Given the description of an element on the screen output the (x, y) to click on. 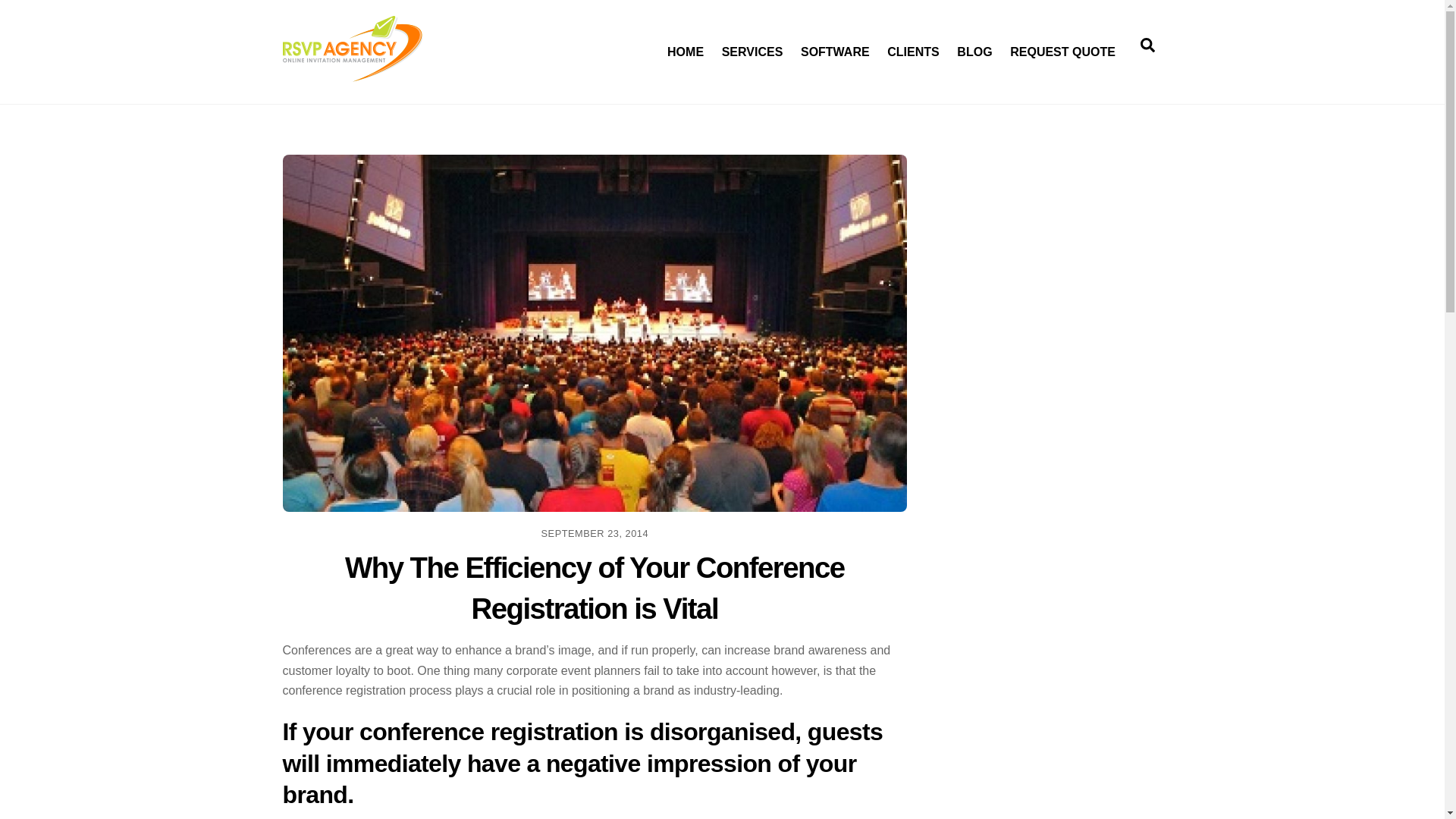
The RSVP Agency (721, 44)
SOFTWARE (352, 74)
REQUEST QUOTE (834, 44)
CLIENTS (1062, 44)
SERVICES (913, 44)
Why The Efficiency of Your Conference Registration is Vital (752, 44)
Why the efficiency of your conference registration is vital (594, 587)
BLOG (1146, 44)
